Given the description of an element on the screen output the (x, y) to click on. 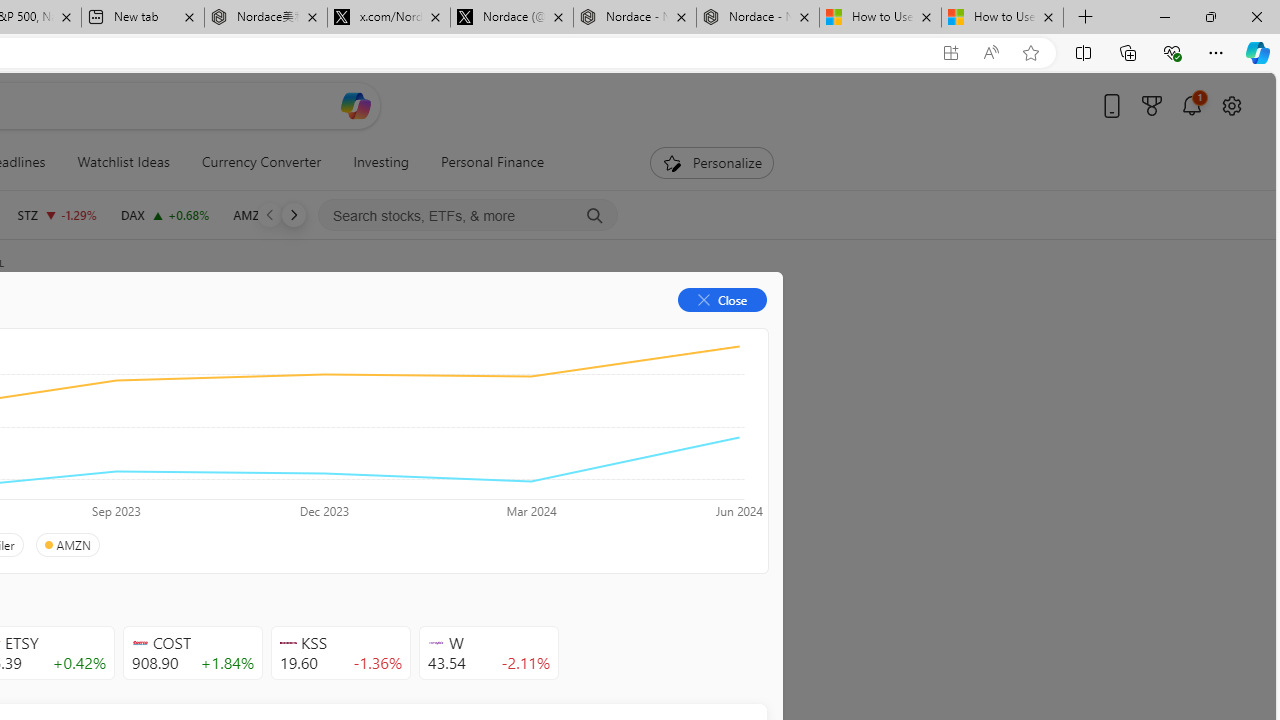
Earnings (398, 331)
Sentiment (595, 331)
Investing (381, 162)
Options (693, 331)
Next (293, 214)
Currency Converter (261, 162)
